Given the description of an element on the screen output the (x, y) to click on. 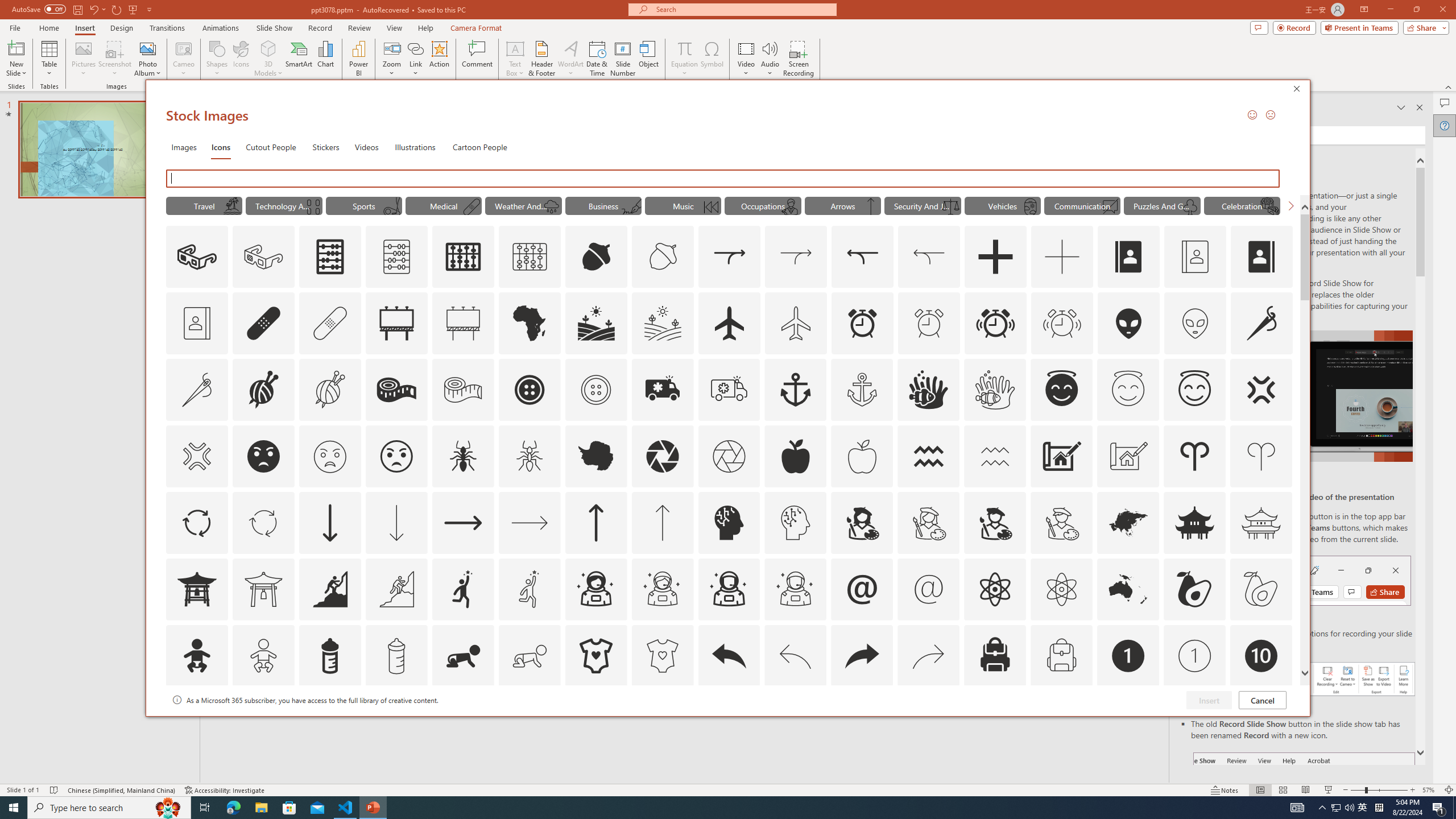
AutomationID: Icons_AlarmRinging (995, 323)
AutomationID: Icons_Architecture_M (1128, 455)
AutomationID: Icons_Aries (1194, 455)
Draw Horizontal Text Box (515, 48)
AutomationID: Icons_Acquisition_RTL (863, 256)
SmartArt... (298, 58)
AutomationID: Icons_Advertising_M (462, 323)
AutomationID: Icons_Badge1_M (1194, 655)
